Given the description of an element on the screen output the (x, y) to click on. 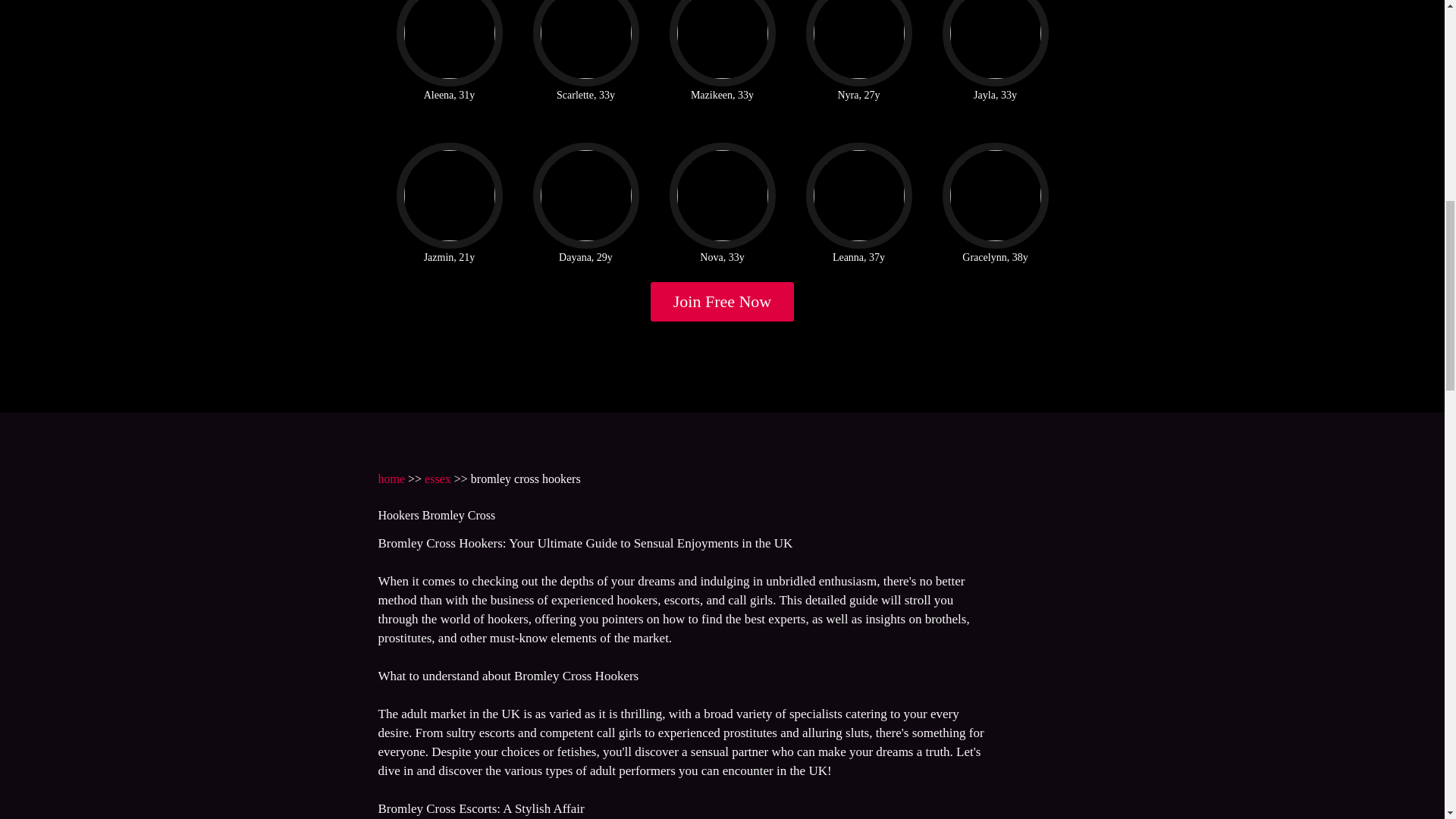
home (390, 478)
Join Free Now (722, 301)
Join (722, 301)
essex (438, 478)
